Given the description of an element on the screen output the (x, y) to click on. 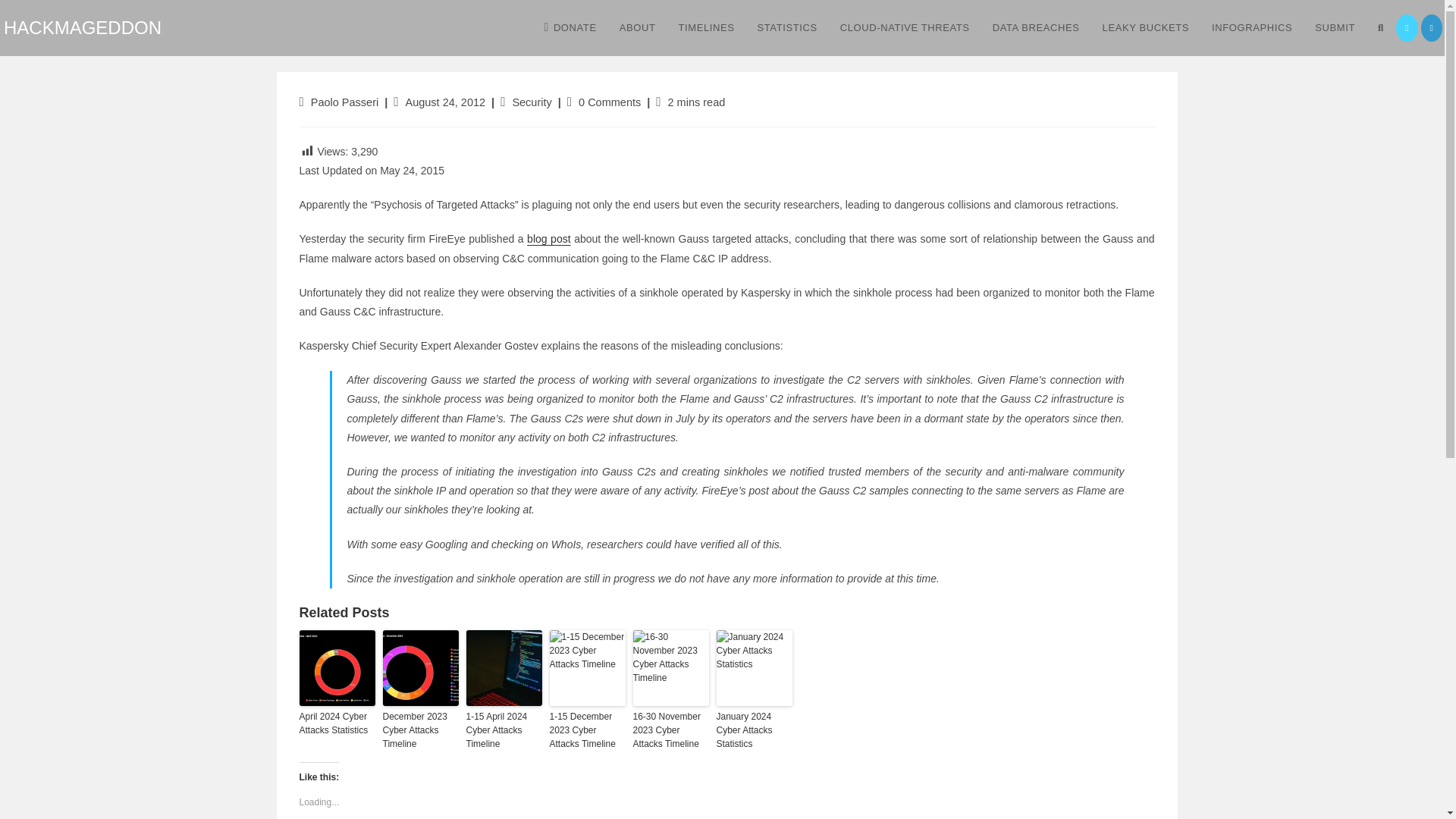
December 2023 Cyber Attacks Timeline (419, 730)
STATISTICS (786, 28)
HACKMAGEDDON (82, 27)
Posts by Paolo Passeri (344, 102)
1-15 April 2024 Cyber Attacks Timeline (503, 730)
1-15 December 2023 Cyber Attacks Timeline (586, 730)
blog post (548, 238)
April 2024 Cyber Attacks Statistics (336, 723)
0 Comments (609, 102)
CLOUD-NATIVE THREATS (904, 28)
